Given the description of an element on the screen output the (x, y) to click on. 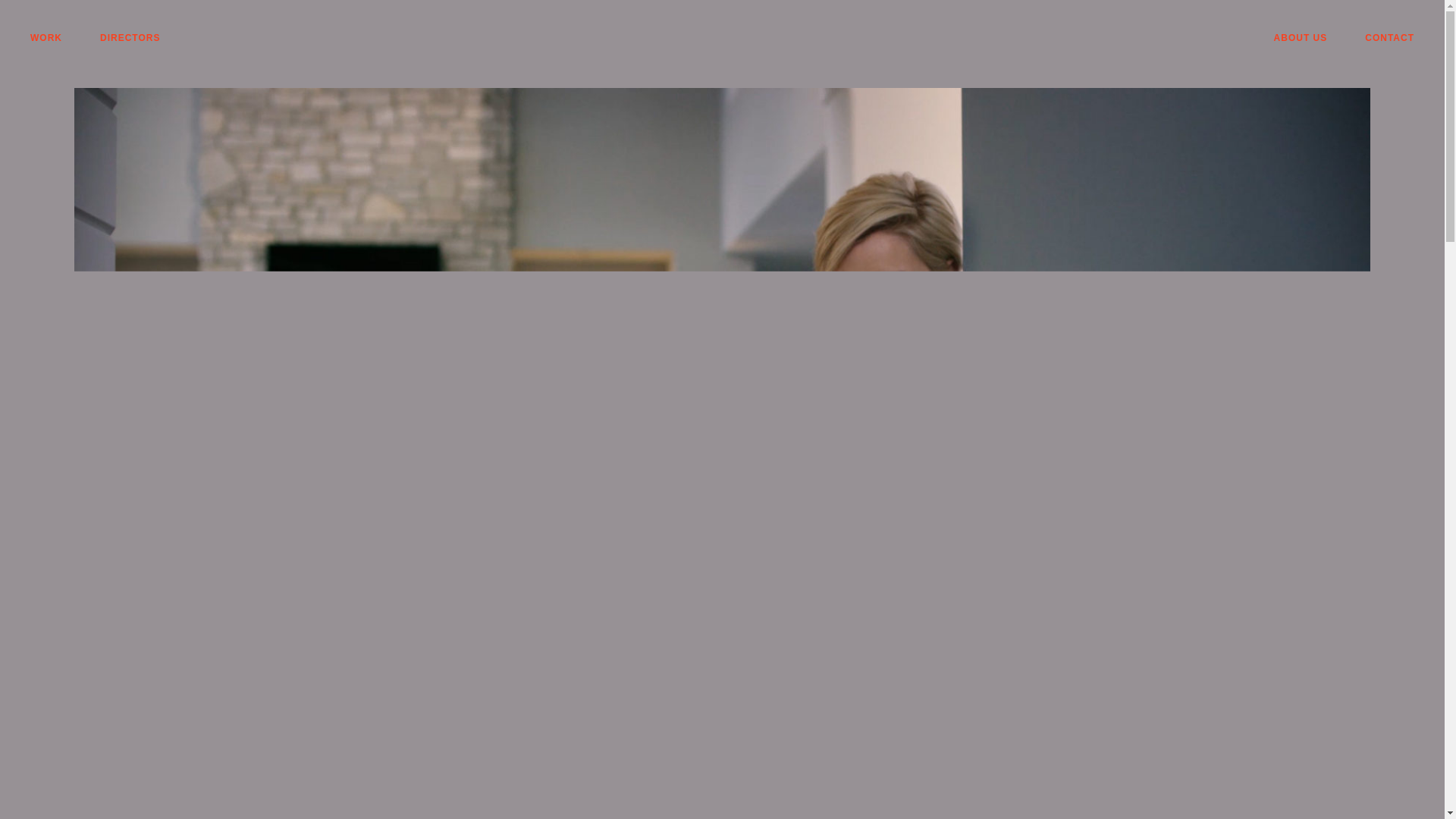
Gorilla (721, 37)
CONTACT (1389, 37)
WORK (46, 37)
ABOUT US (1300, 37)
DIRECTORS (130, 37)
